Given the description of an element on the screen output the (x, y) to click on. 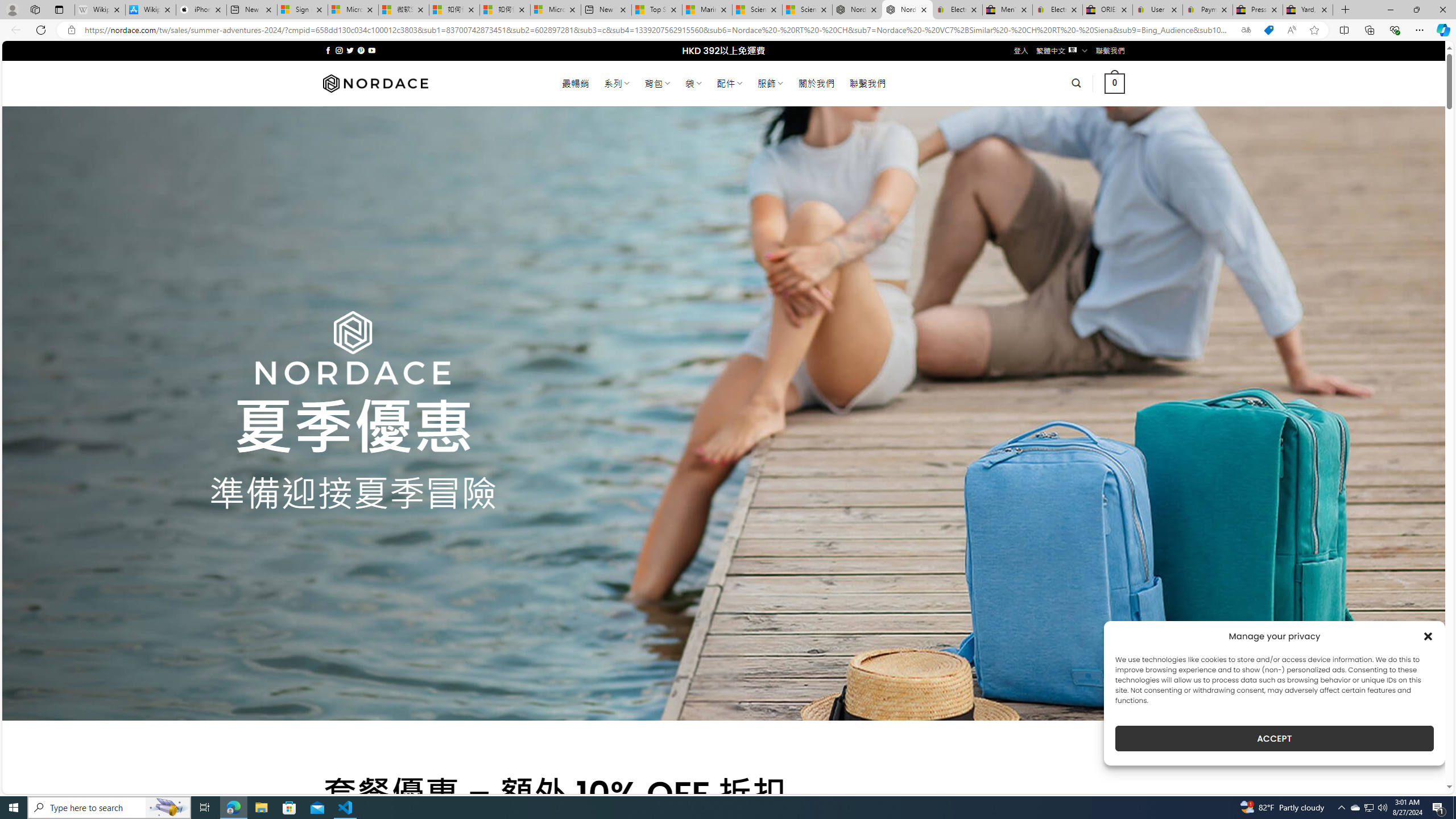
Nordace - Summer Adventures 2024 (907, 9)
Top Stories - MSN (656, 9)
User Privacy Notice | eBay (1158, 9)
Follow on Twitter (349, 50)
Show translate options (1245, 29)
Nordace (374, 83)
Class: cmplz-close (1428, 636)
Follow on YouTube (371, 50)
Payments Terms of Use | eBay.com (1207, 9)
